Given the description of an element on the screen output the (x, y) to click on. 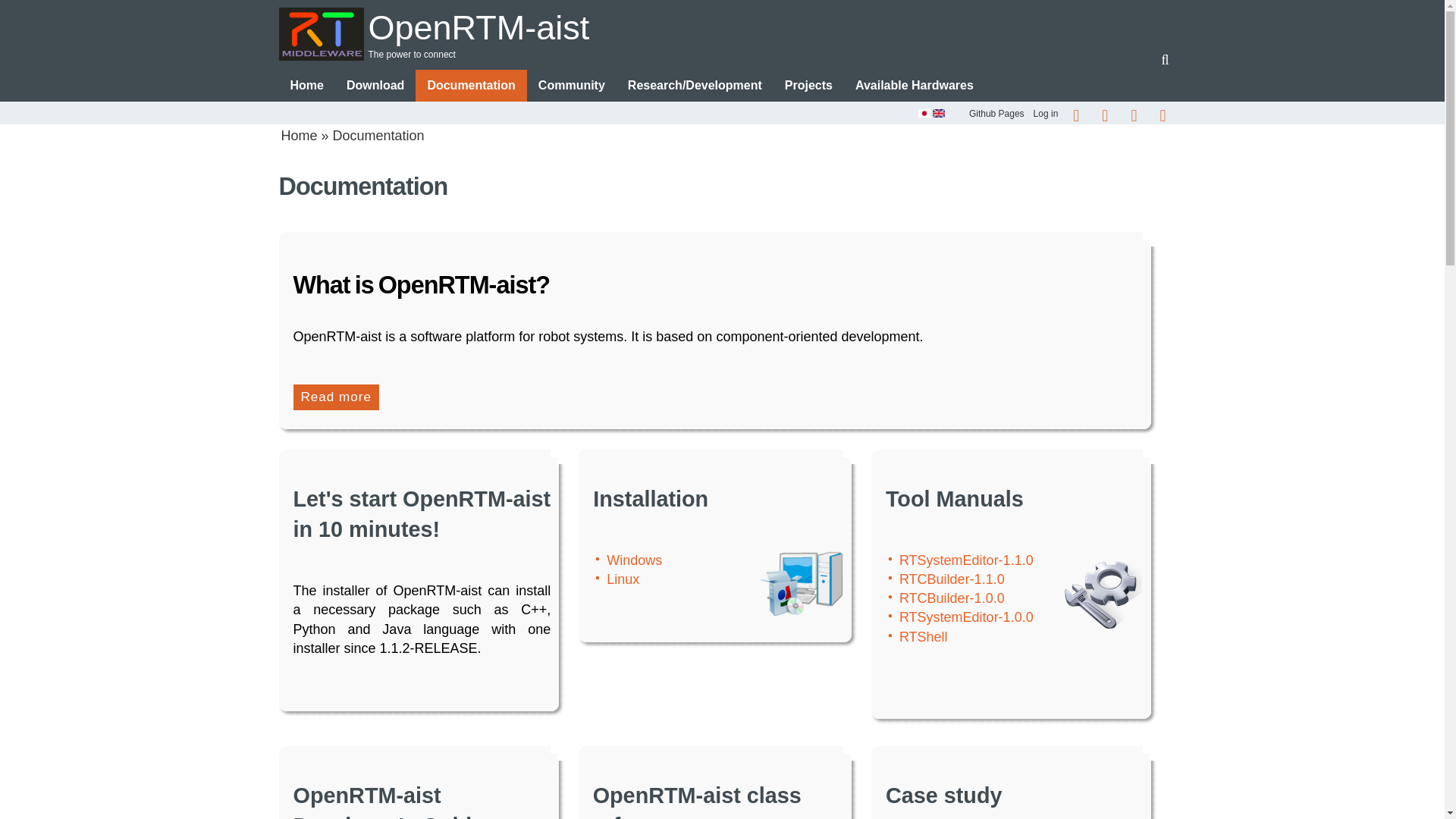
OpenRTM-aist (478, 27)
OpenRTM-aist (722, 26)
Documentation (469, 85)
Search (1165, 60)
Download (374, 85)
Home (306, 85)
Home (306, 85)
Download (374, 85)
The power to connect (722, 54)
Documentation (469, 85)
